Given the description of an element on the screen output the (x, y) to click on. 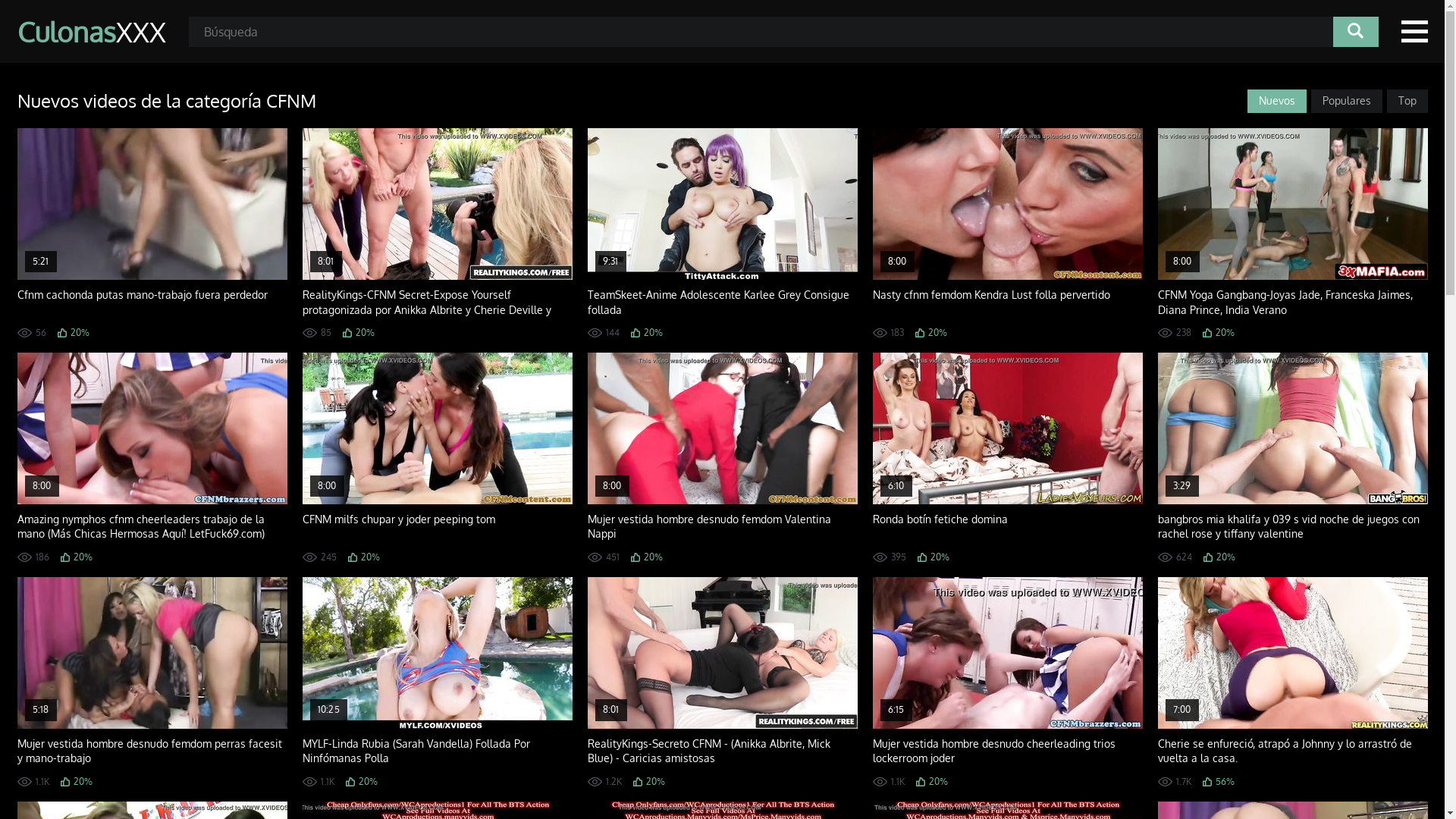
8:00
CFNM milfs chupar y joder peeping tom
245
20% Element type: text (436, 456)
Top Element type: text (1406, 100)
Populares Element type: text (1345, 100)
5:21
Cfnm cachonda putas mano-trabajo fuera perdedor
56
20% Element type: text (151, 232)
Nuevos Element type: text (1275, 100)
CulonasXXX Element type: text (90, 31)
8:00
Nasty cfnm femdom Kendra Lust folla pervertido
183
20% Element type: text (1007, 232)
